Given the description of an element on the screen output the (x, y) to click on. 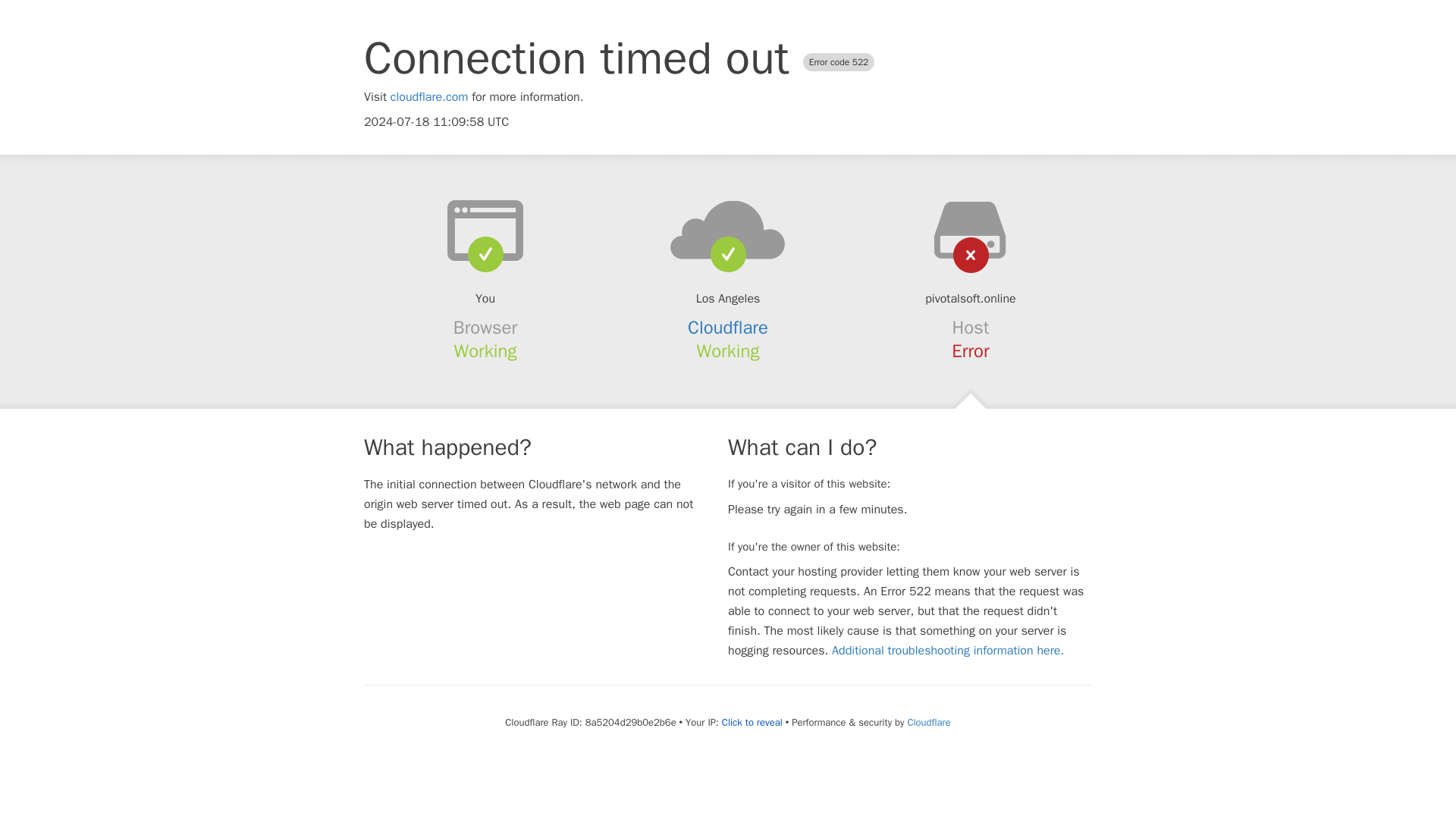
Cloudflare (727, 327)
Click to reveal (752, 722)
cloudflare.com (429, 96)
Cloudflare (928, 721)
Additional troubleshooting information here. (947, 650)
